Given the description of an element on the screen output the (x, y) to click on. 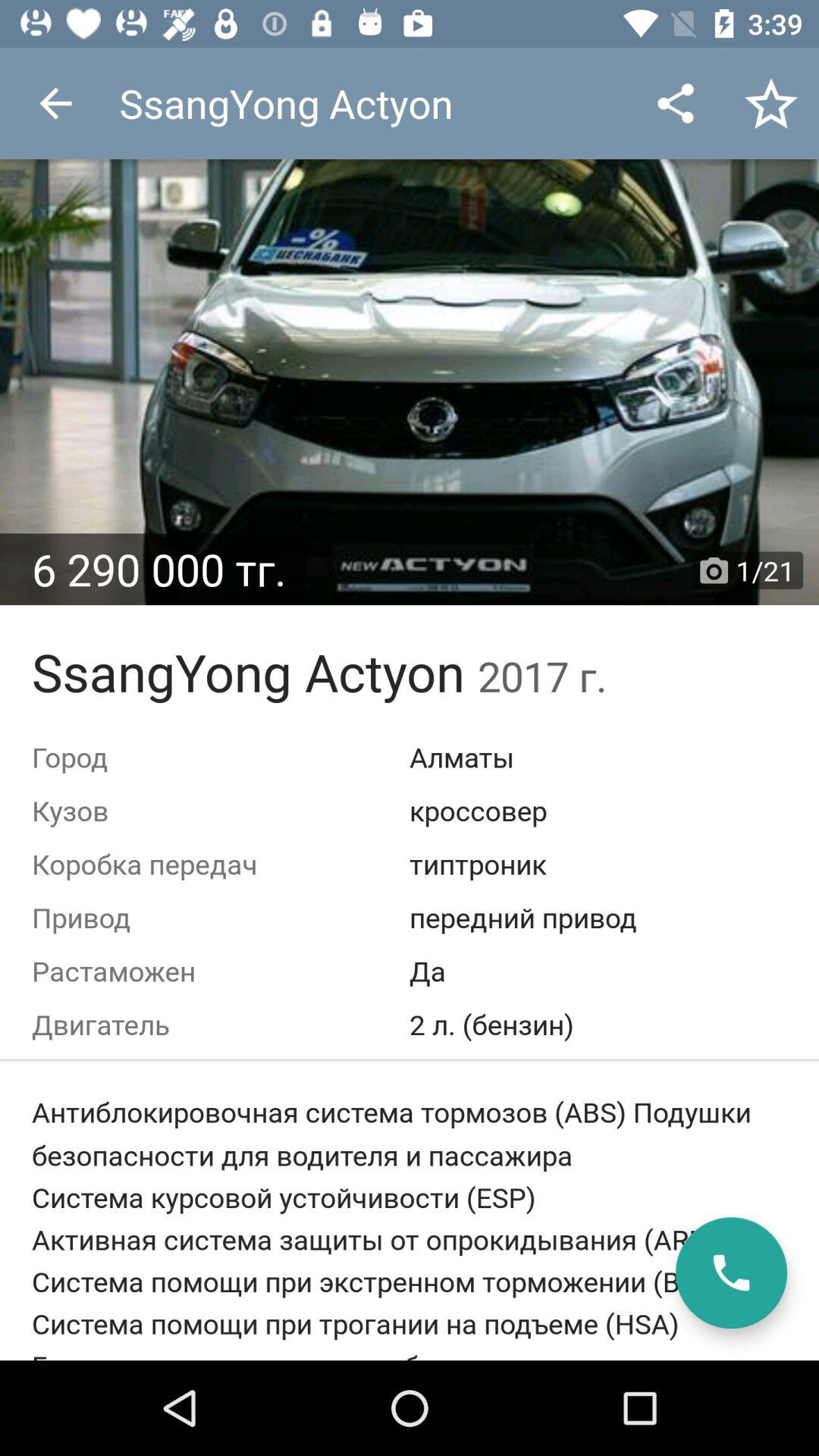
turn off the app next to the ssangyong actyon icon (675, 103)
